Given the description of an element on the screen output the (x, y) to click on. 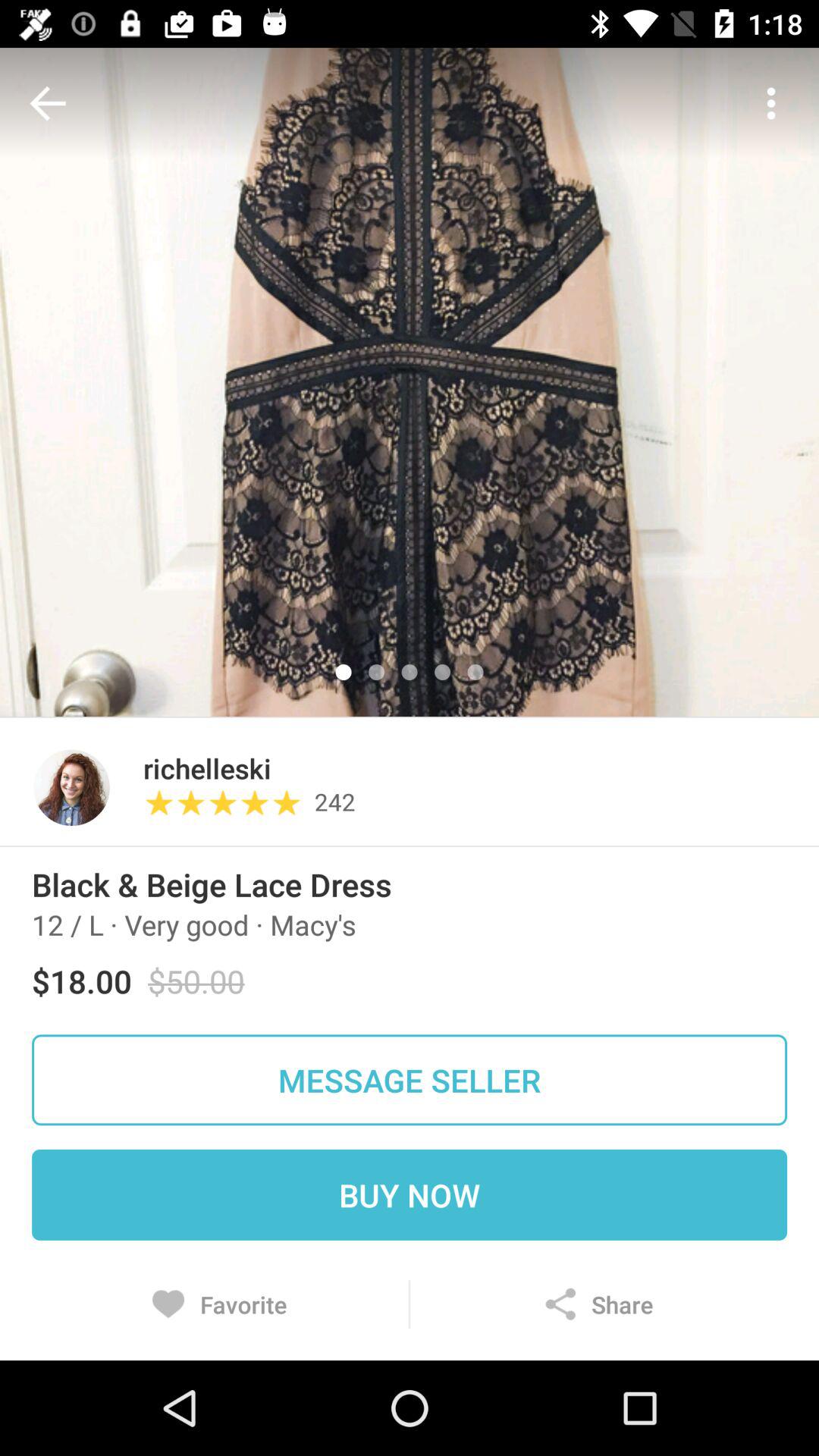
turn off the item below black beige lace (193, 924)
